Given the description of an element on the screen output the (x, y) to click on. 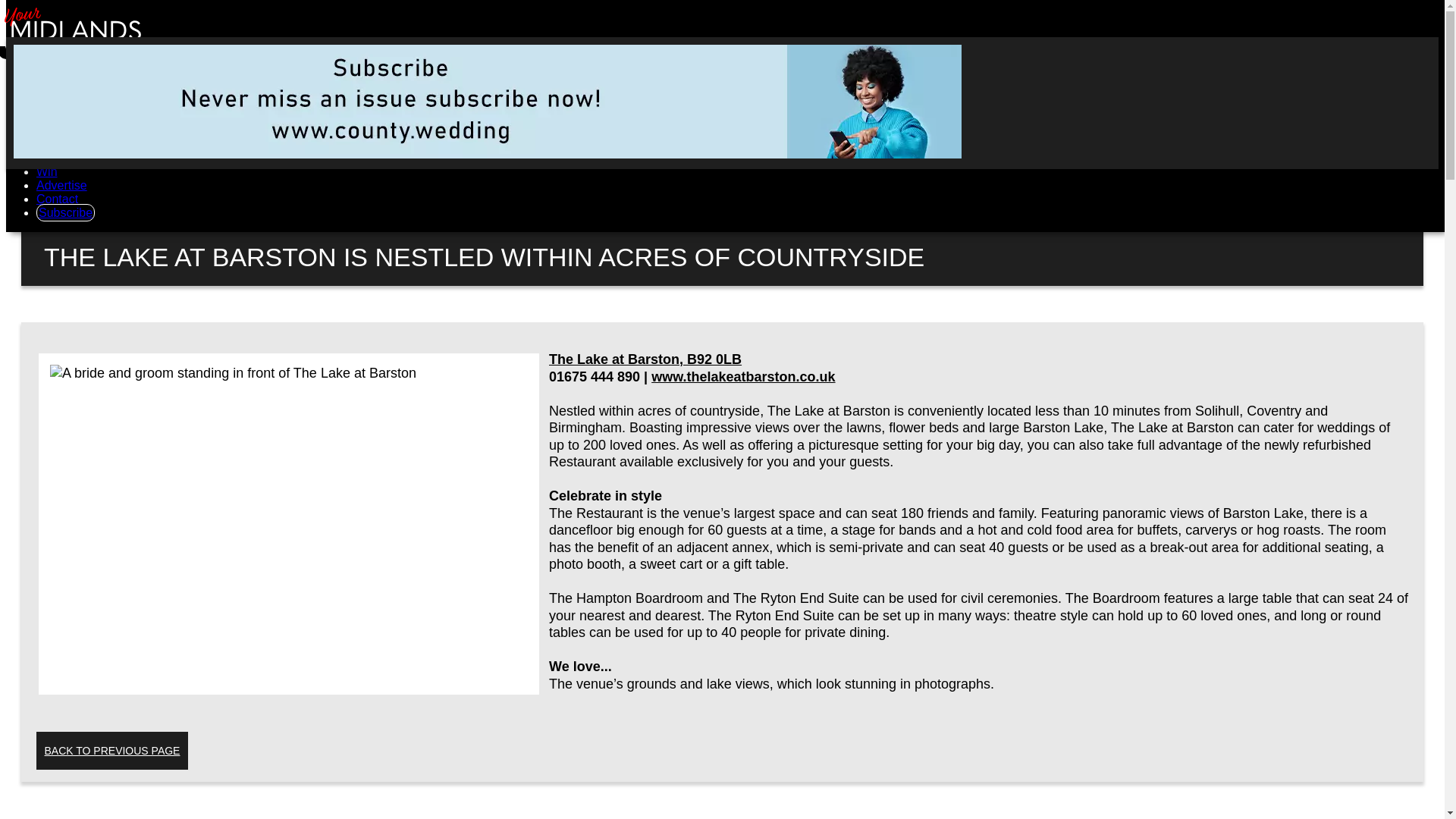
Home (52, 75)
Venues (56, 89)
Subscribe (65, 212)
BACK TO PREVIOUS PAGE (111, 750)
News (51, 144)
Subscribe to Your Midlands Wedding magazine for free (65, 212)
Inspiration (64, 157)
Get Your Copy (75, 130)
www.thelakeatbarston.co.uk (742, 376)
